Given the description of an element on the screen output the (x, y) to click on. 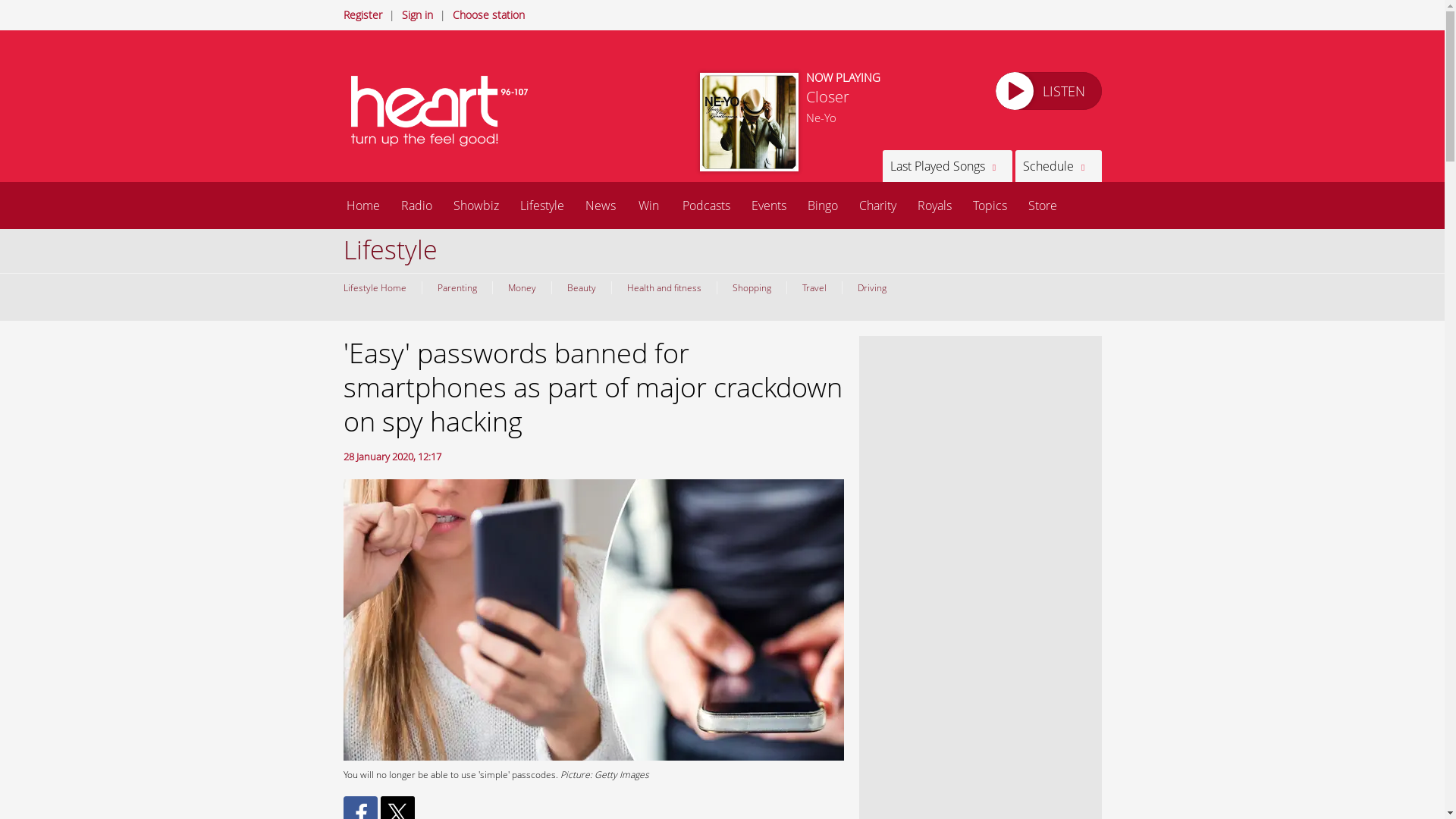
Radio (416, 205)
Heart (441, 111)
Health and fitness (663, 287)
Choose station (487, 14)
Register (361, 14)
Store (1042, 205)
LISTEN (1047, 90)
Podcasts (706, 205)
Events (767, 205)
Home (362, 205)
Bingo (821, 205)
Lifestyle Home (377, 287)
Showbiz (475, 205)
Lifestyle (542, 205)
Money (521, 287)
